Given the description of an element on the screen output the (x, y) to click on. 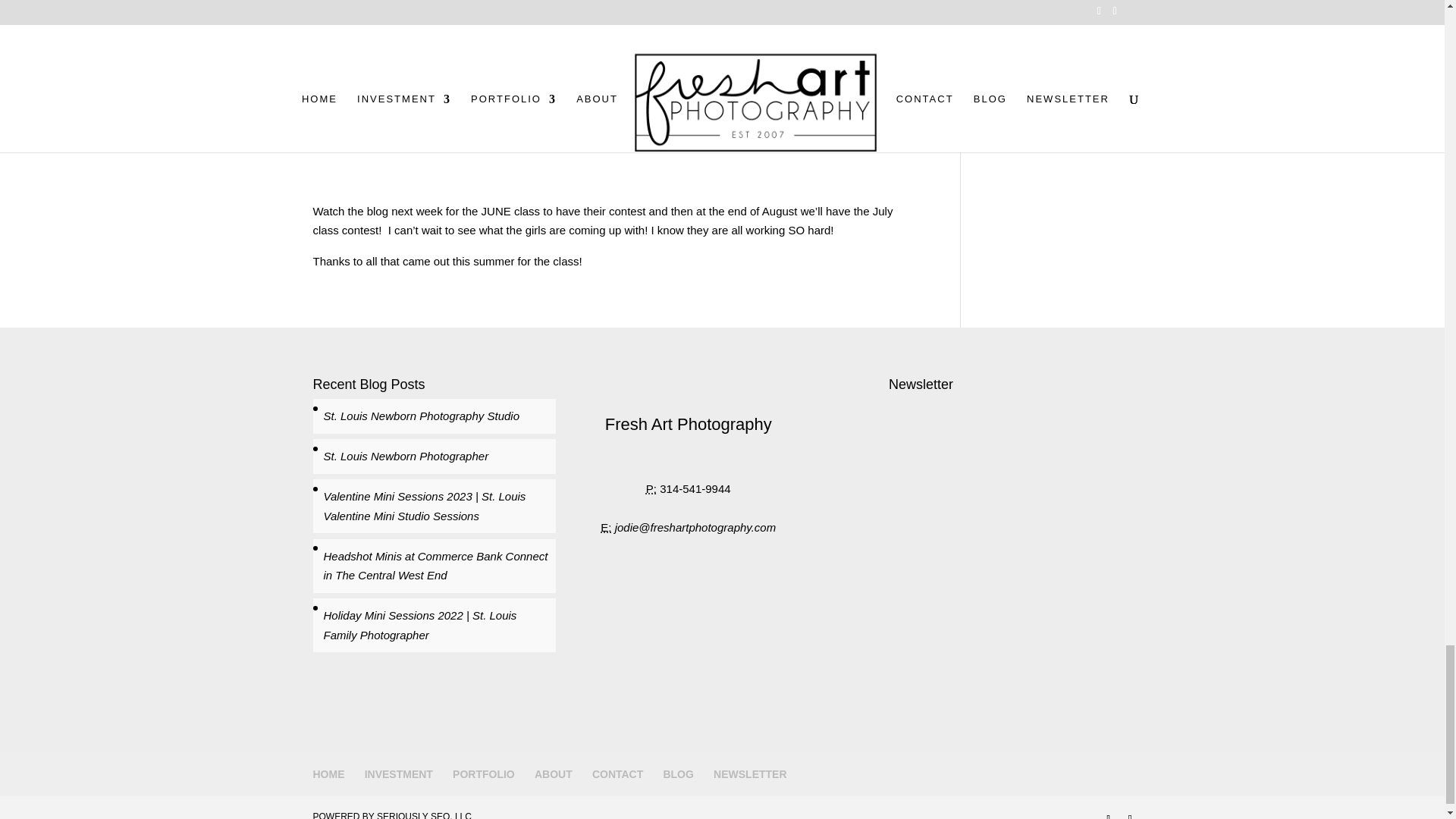
Email (605, 526)
Phone (651, 488)
